Given the description of an element on the screen output the (x, y) to click on. 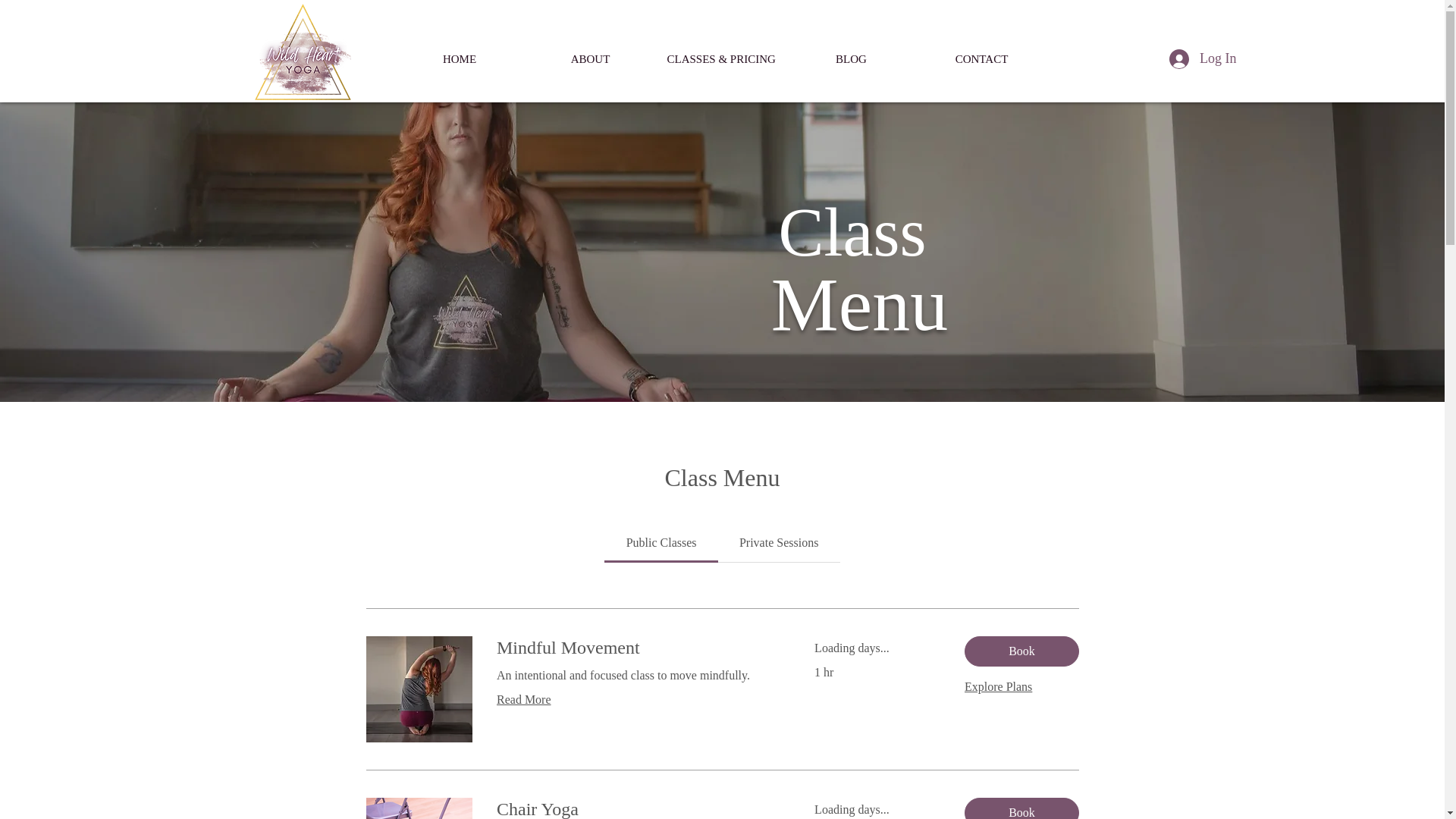
CONTACT (980, 59)
BLOG (850, 59)
Log In (1202, 59)
Explore Plans (997, 686)
Mindful Movement (636, 648)
Read More (636, 700)
Book (1020, 808)
Chair Yoga (636, 808)
Book (1020, 651)
HOME (459, 59)
